Given the description of an element on the screen output the (x, y) to click on. 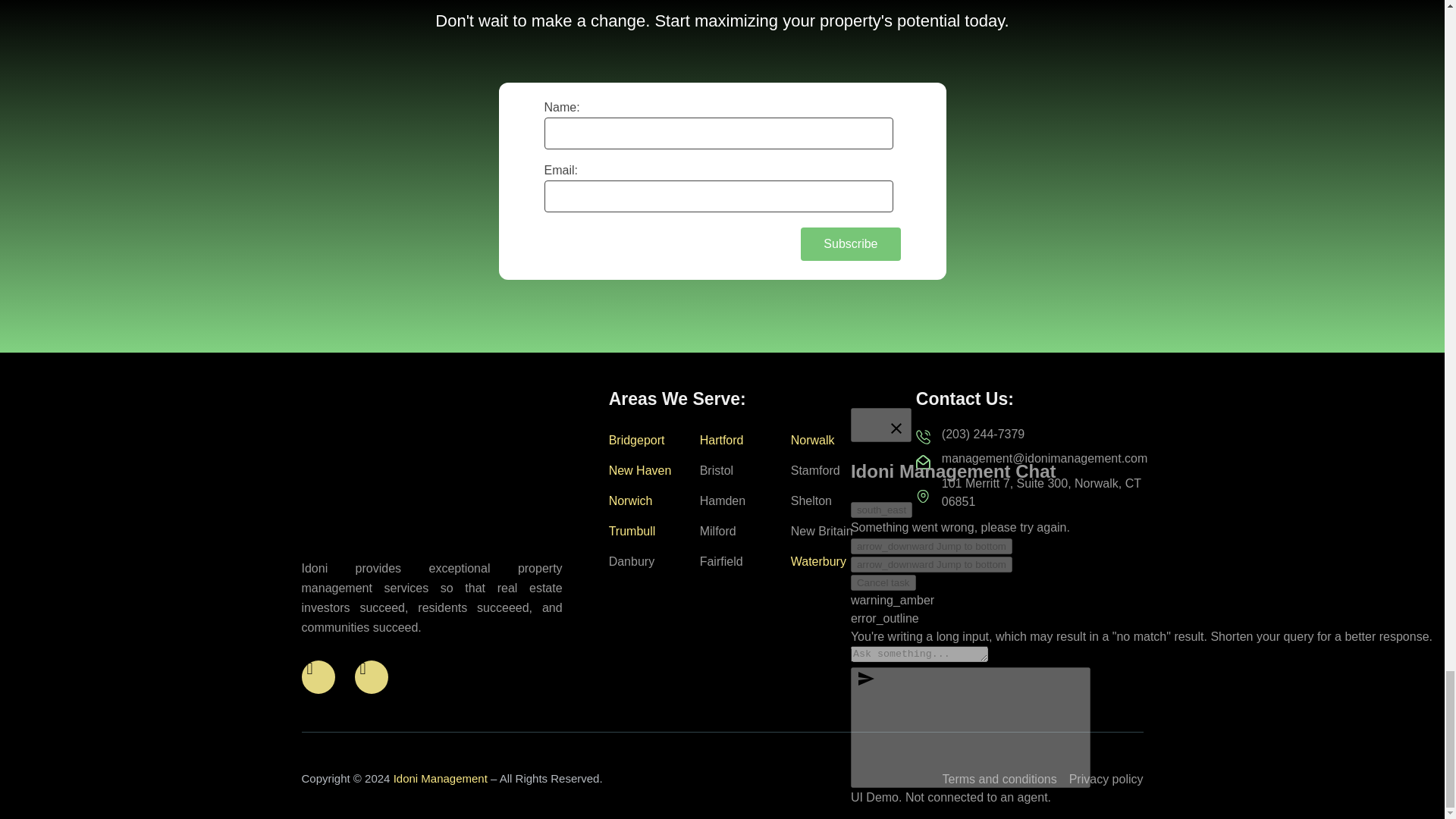
Subscribe (849, 244)
